Given the description of an element on the screen output the (x, y) to click on. 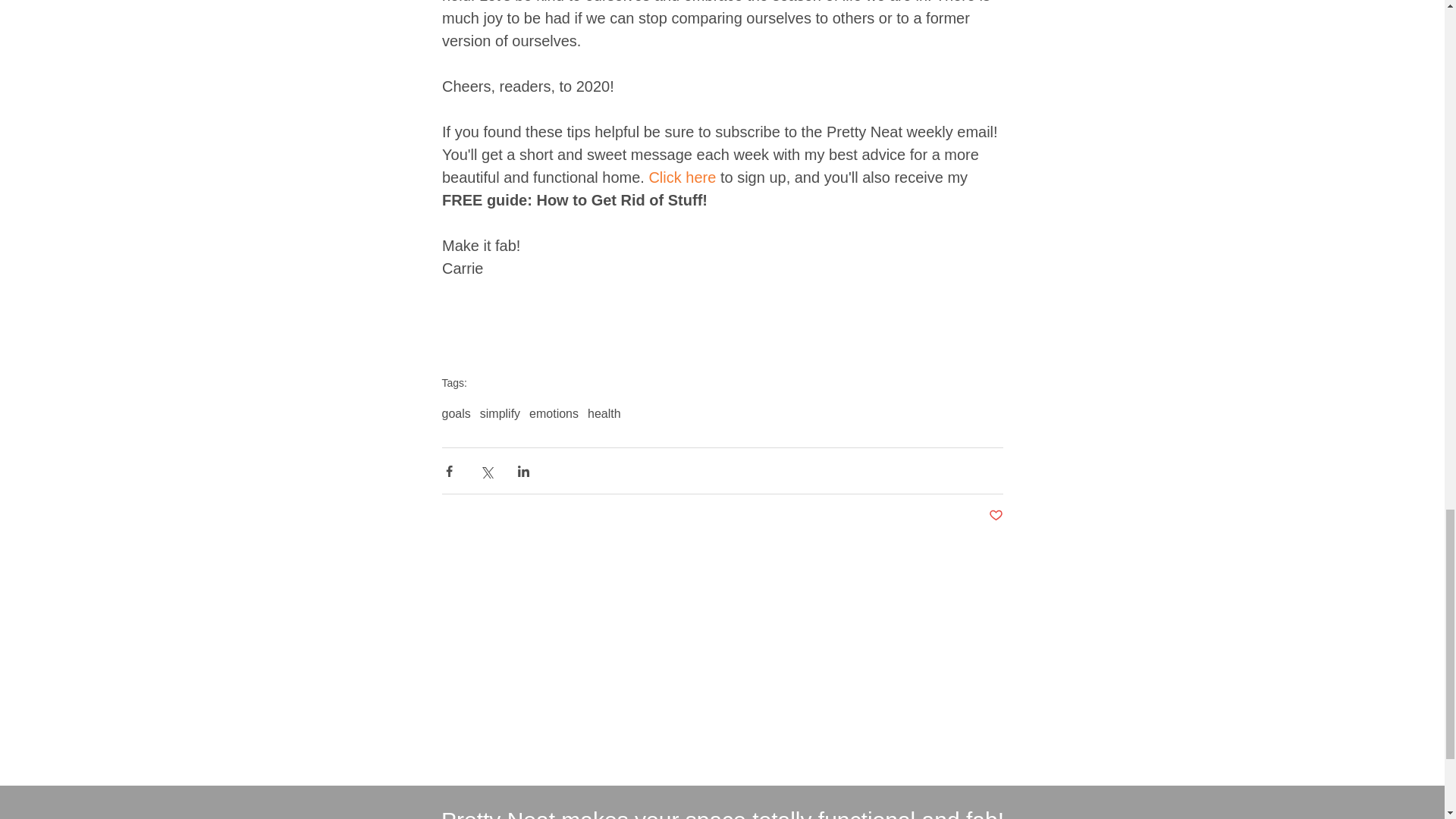
health (604, 413)
simplify (499, 413)
goals (455, 413)
Click here (681, 176)
Post not marked as liked (995, 515)
emotions (553, 413)
